Given the description of an element on the screen output the (x, y) to click on. 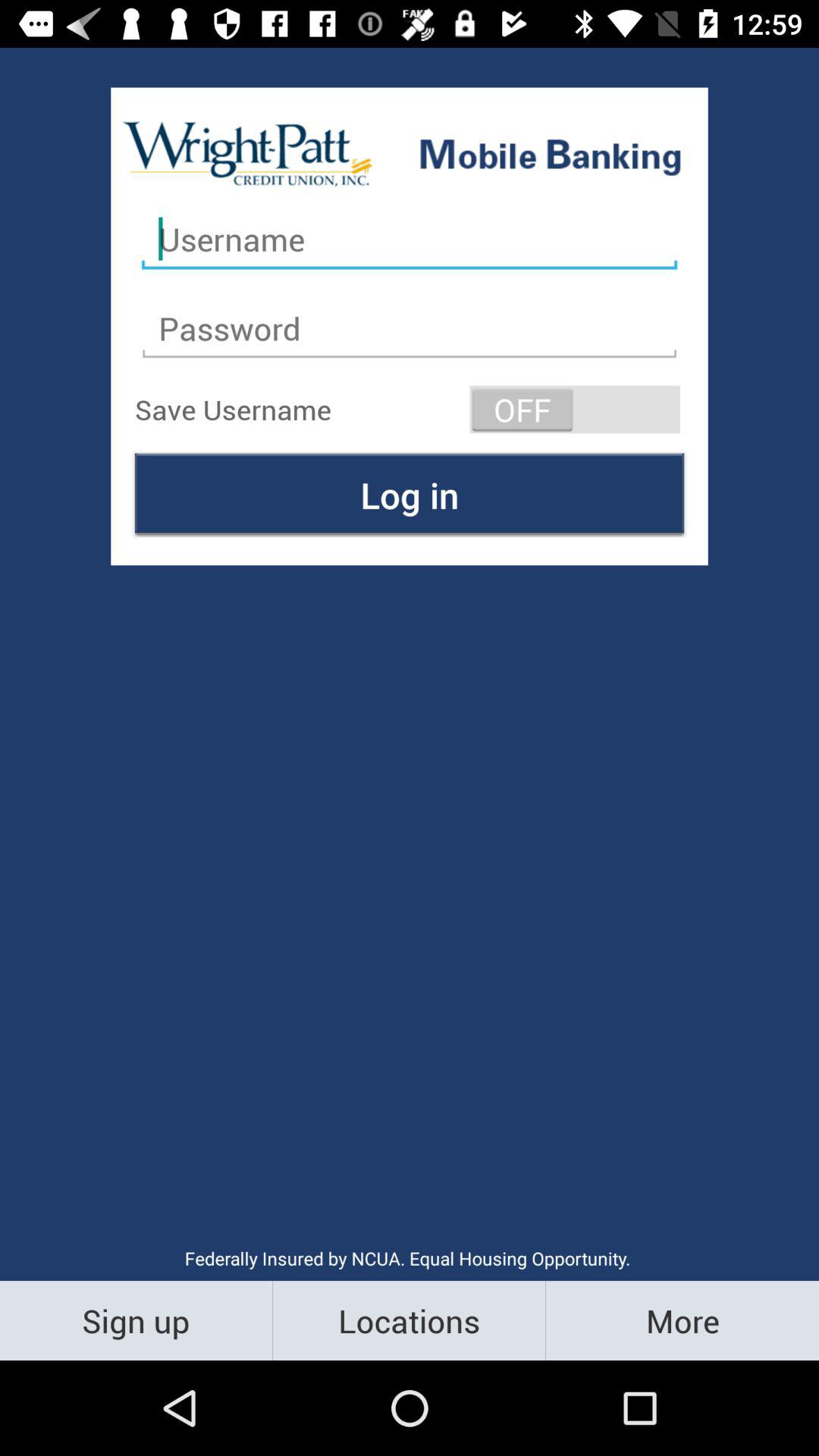
choose the item next to the save username item (574, 409)
